Given the description of an element on the screen output the (x, y) to click on. 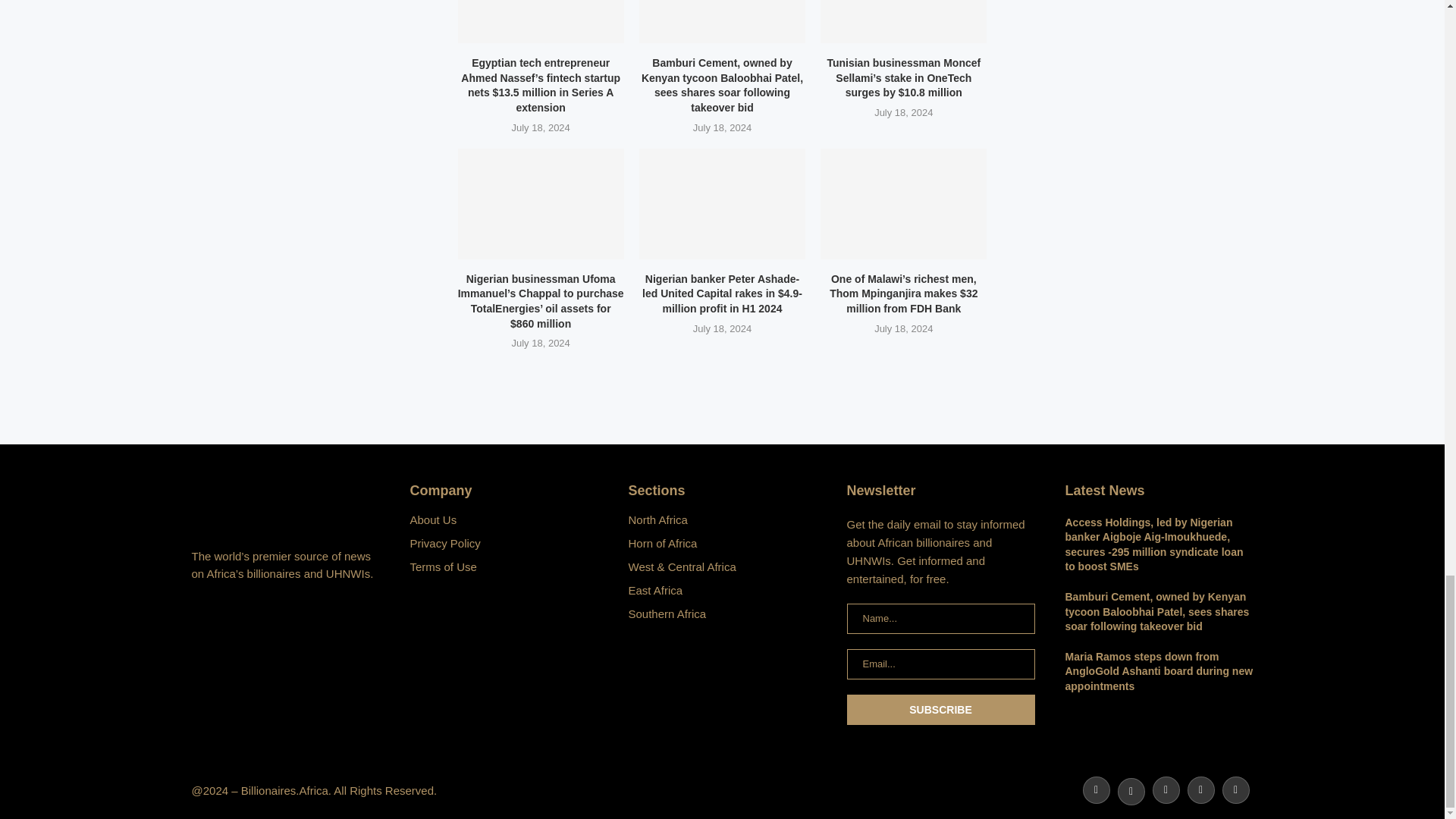
Subscribe (939, 709)
